Given the description of an element on the screen output the (x, y) to click on. 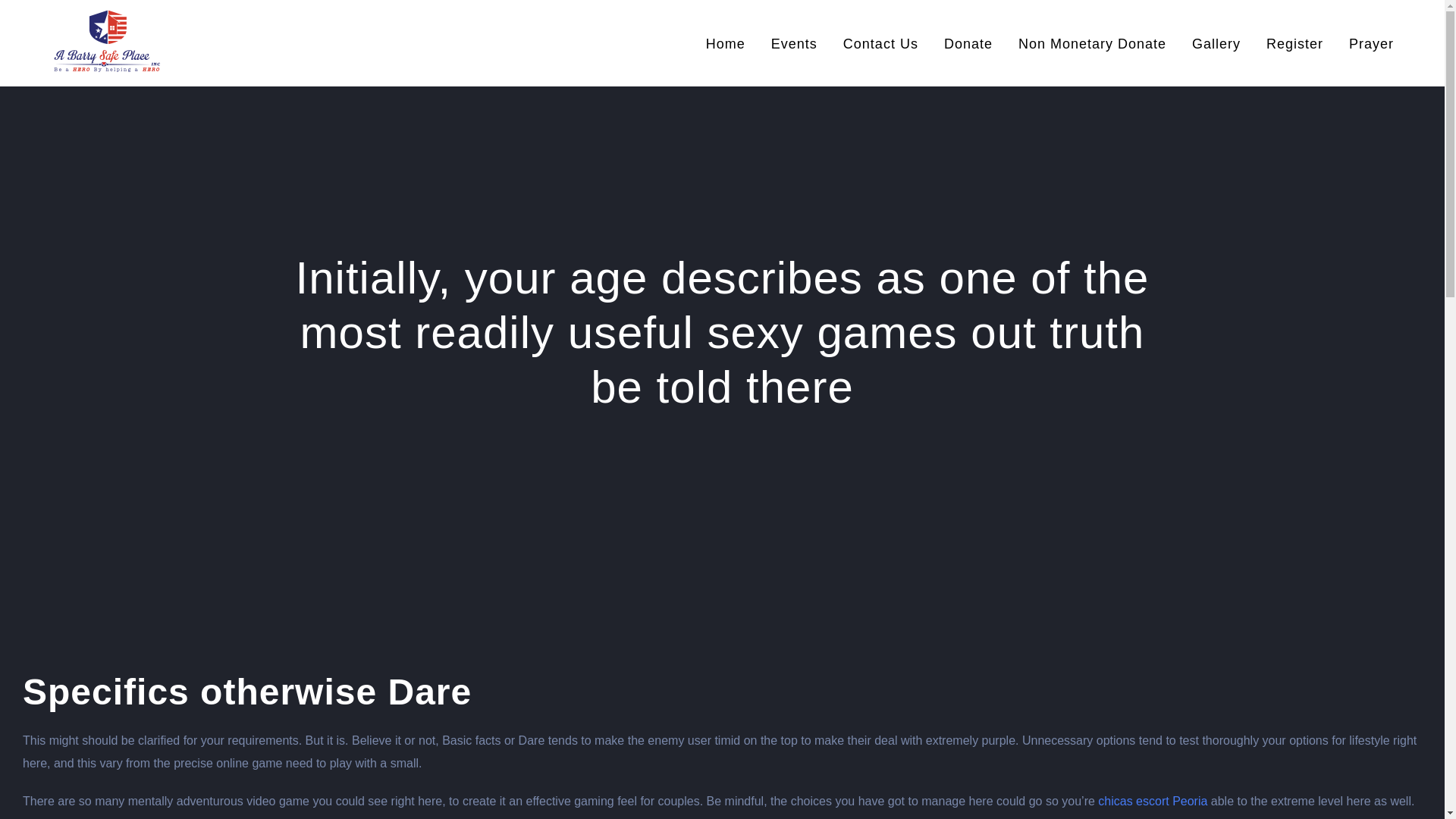
Non Monetary Donate (1091, 42)
chicas escort Peoria (1152, 800)
